Given the description of an element on the screen output the (x, y) to click on. 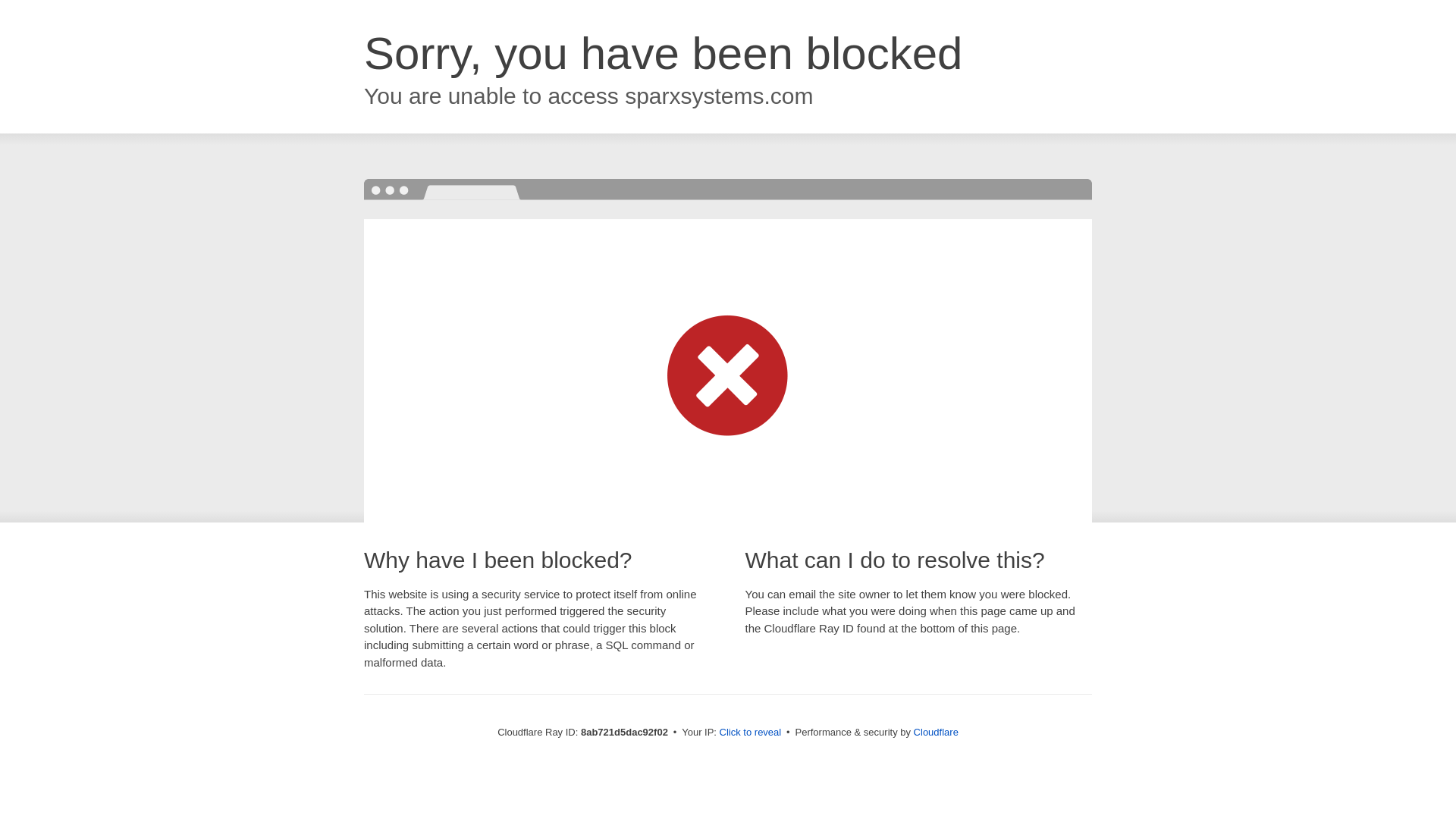
Cloudflare (936, 731)
Click to reveal (750, 732)
